Given the description of an element on the screen output the (x, y) to click on. 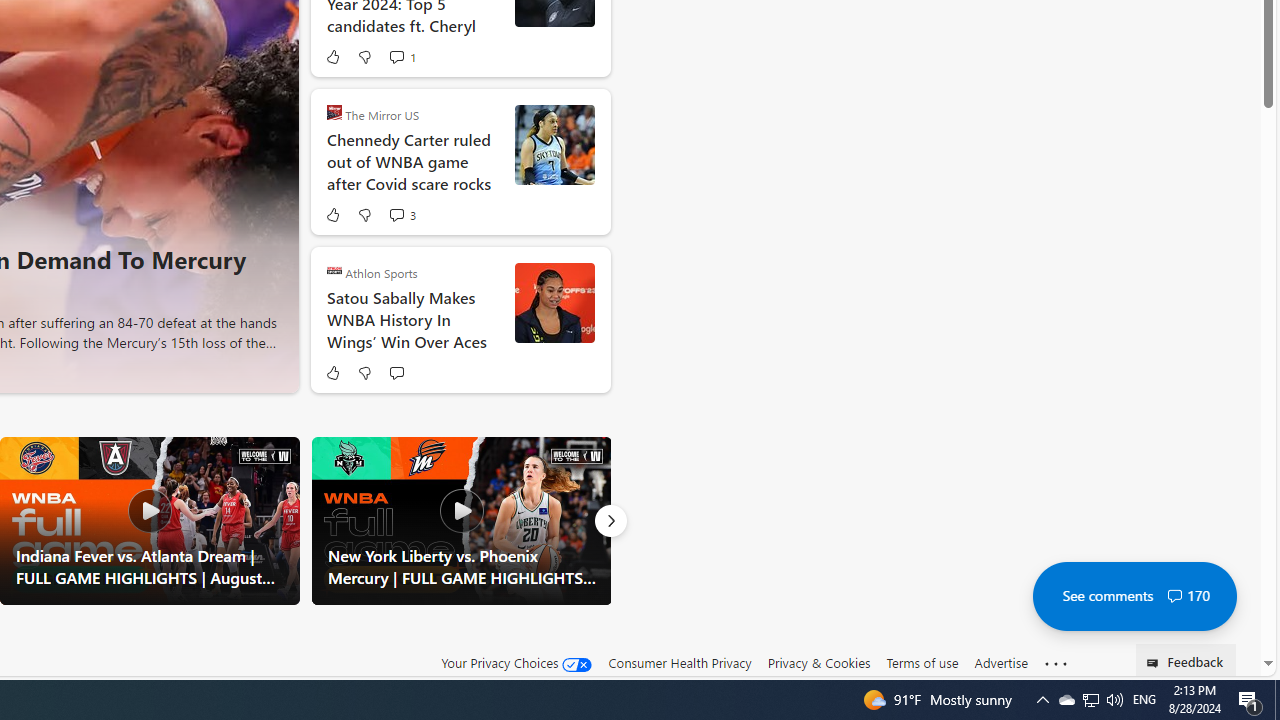
View comments 1 Comment (395, 56)
Dislike (364, 372)
Athlon Sports (333, 269)
Consumer Health Privacy (680, 662)
